Given the description of an element on the screen output the (x, y) to click on. 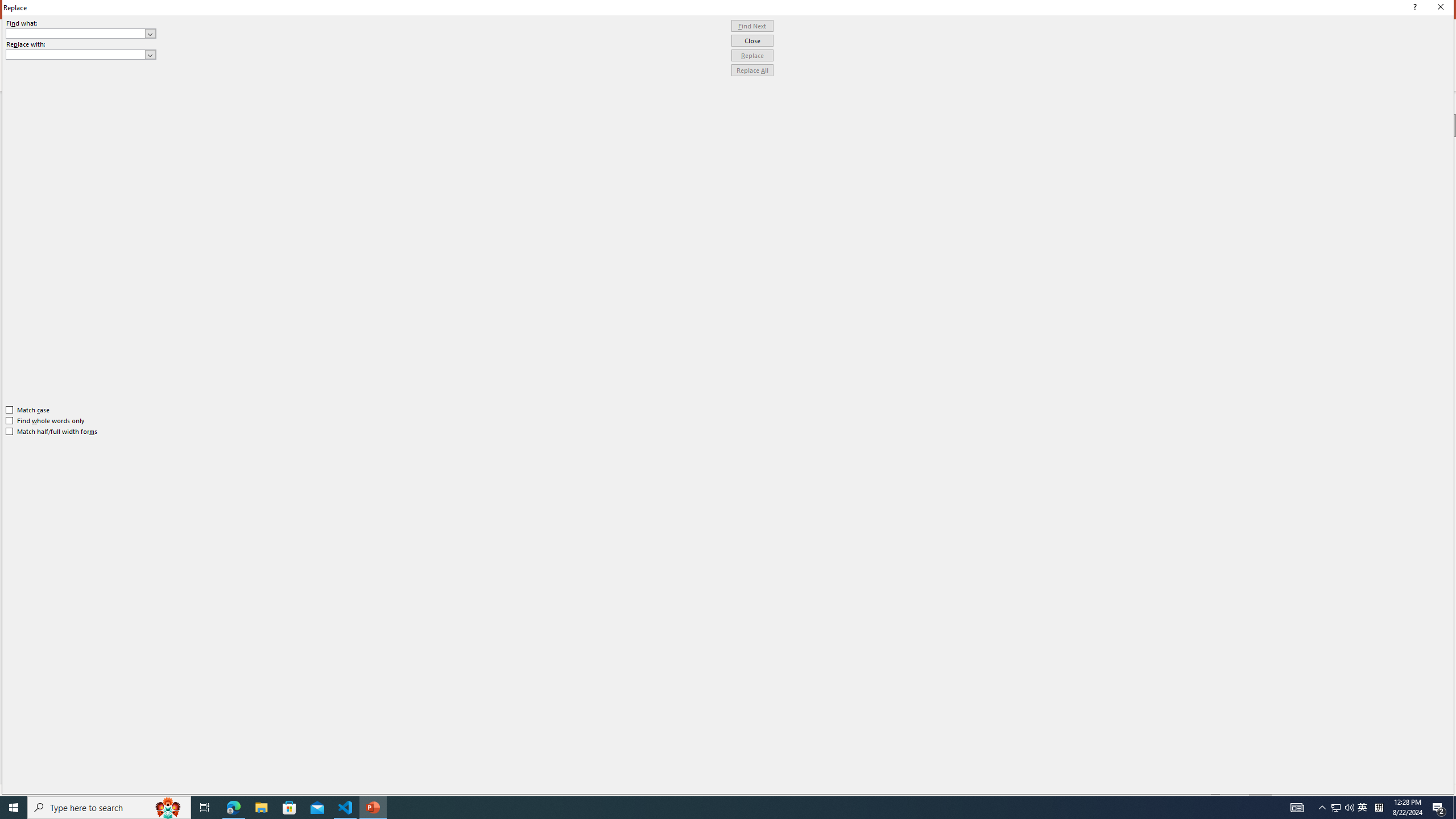
Replace (752, 55)
Replace with (75, 53)
Find Next (752, 25)
Find what (75, 33)
Replace with (80, 54)
Find whole words only (45, 420)
Replace All (752, 69)
Match case (27, 409)
Find what (80, 33)
Match half/full width forms (52, 431)
